Given the description of an element on the screen output the (x, y) to click on. 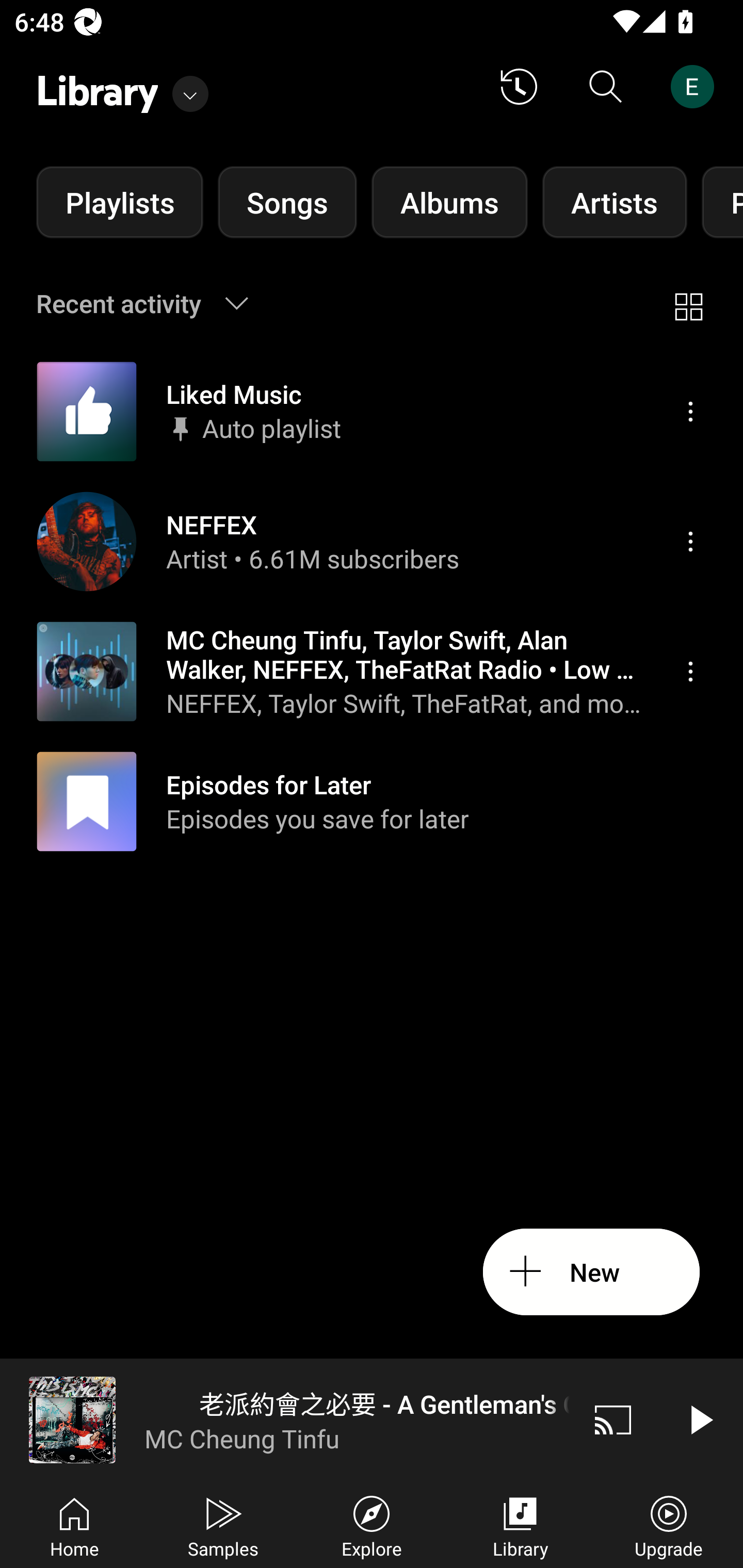
Show library landing selected Library (121, 86)
History (518, 86)
Search (605, 86)
Account (696, 86)
Recent activity selected Recent activity (154, 303)
Show in grid view (688, 303)
Menu (690, 411)
Menu (690, 540)
Menu (690, 671)
New (590, 1272)
Cast. Disconnected (612, 1419)
Play video (699, 1419)
Home (74, 1524)
Samples (222, 1524)
Explore (371, 1524)
Upgrade (668, 1524)
